Given the description of an element on the screen output the (x, y) to click on. 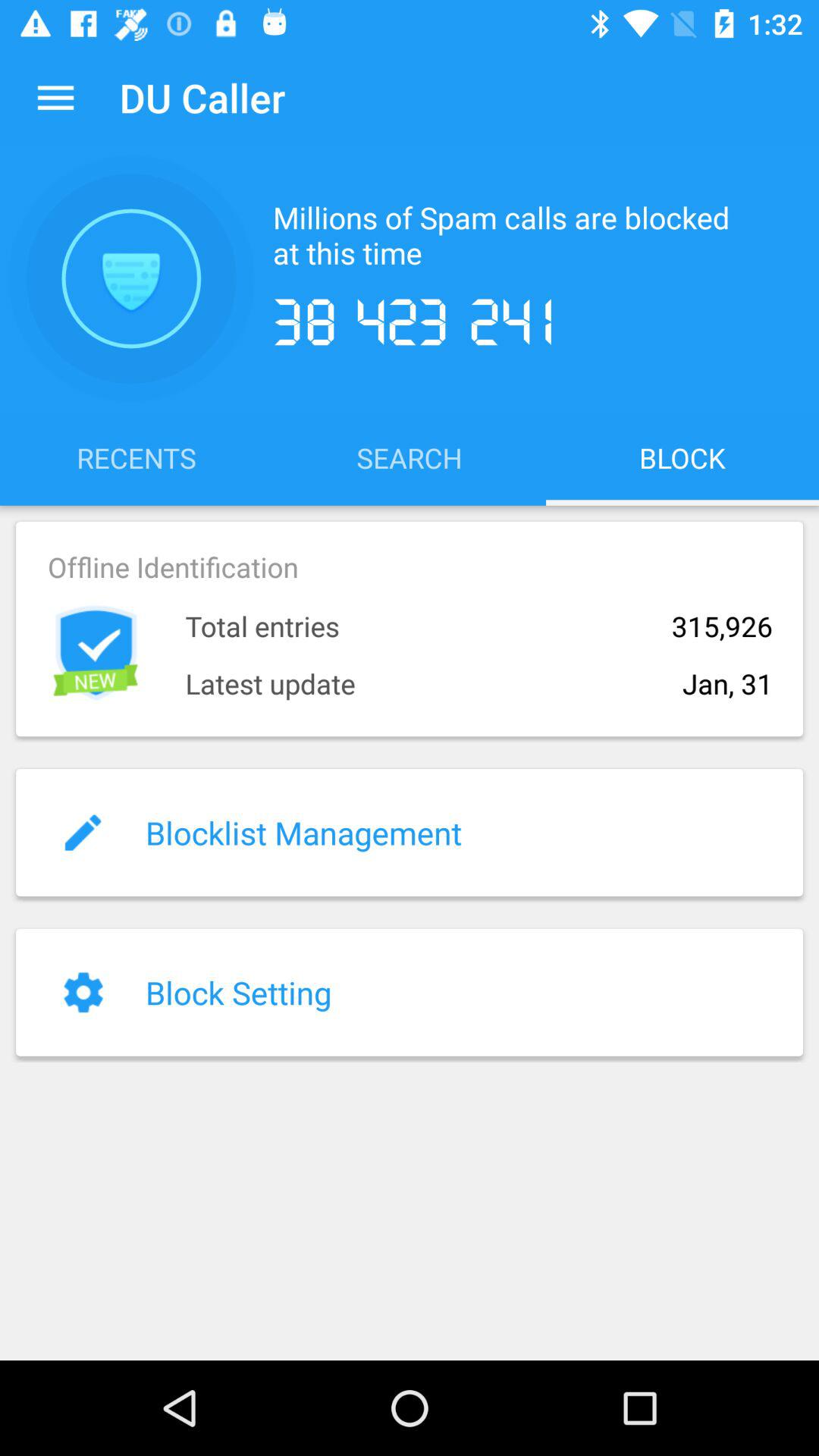
launch item next to the millions of spam item (131, 278)
